Given the description of an element on the screen output the (x, y) to click on. 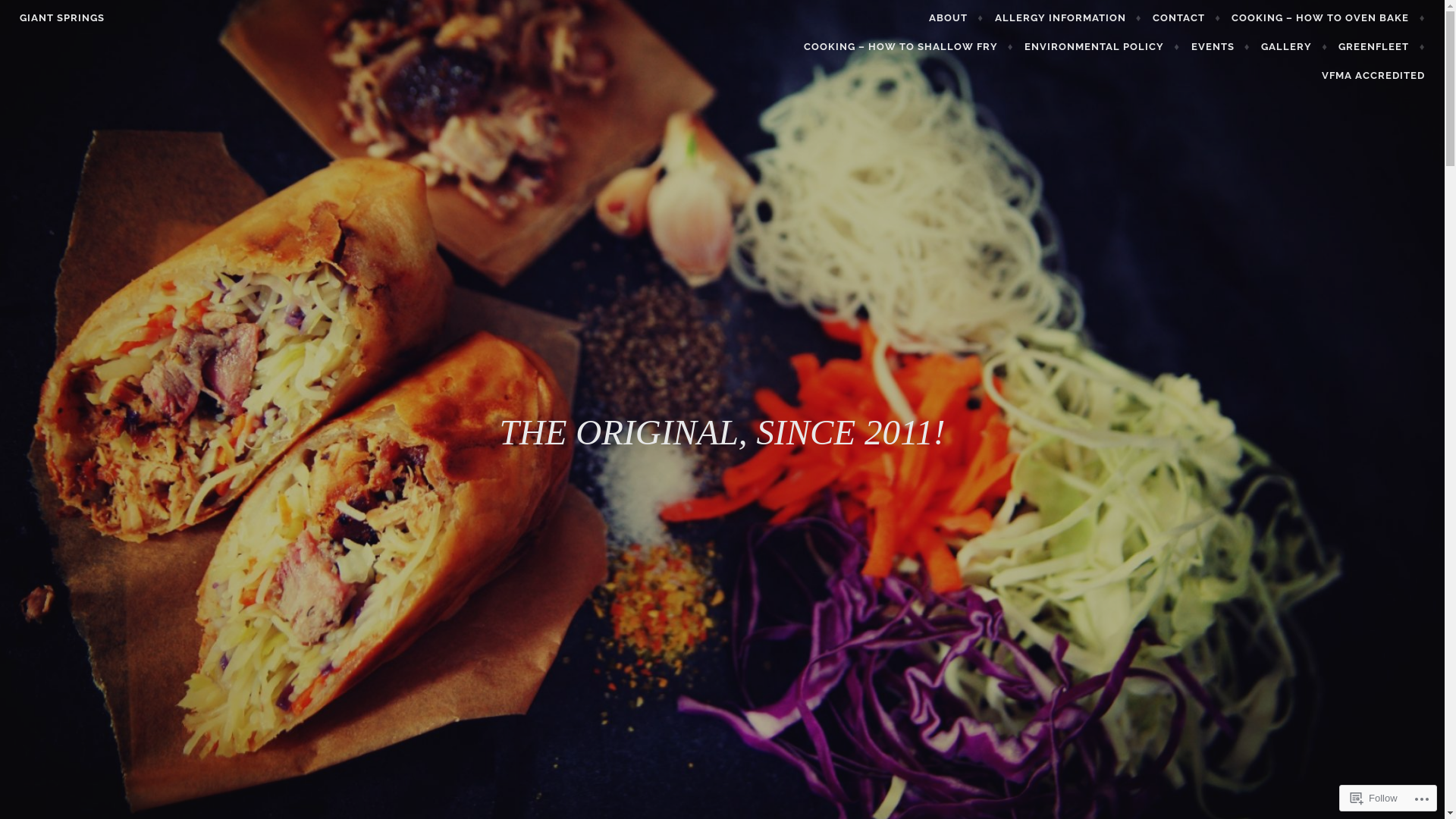
GREENFLEET Element type: text (1381, 46)
VFMA ACCREDITED Element type: text (1372, 75)
GALLERY Element type: text (1294, 46)
Follow Element type: text (1373, 797)
ABOUT Element type: text (955, 17)
ENVIRONMENTAL POLICY Element type: text (1101, 46)
CONTACT Element type: text (1186, 17)
GIANT SPRINGS Element type: text (61, 17)
EVENTS Element type: text (1220, 46)
ALLERGY INFORMATION Element type: text (1068, 17)
THE ORIGINAL, SINCE 2011! Element type: text (721, 431)
Search Element type: text (36, 14)
